Given the description of an element on the screen output the (x, y) to click on. 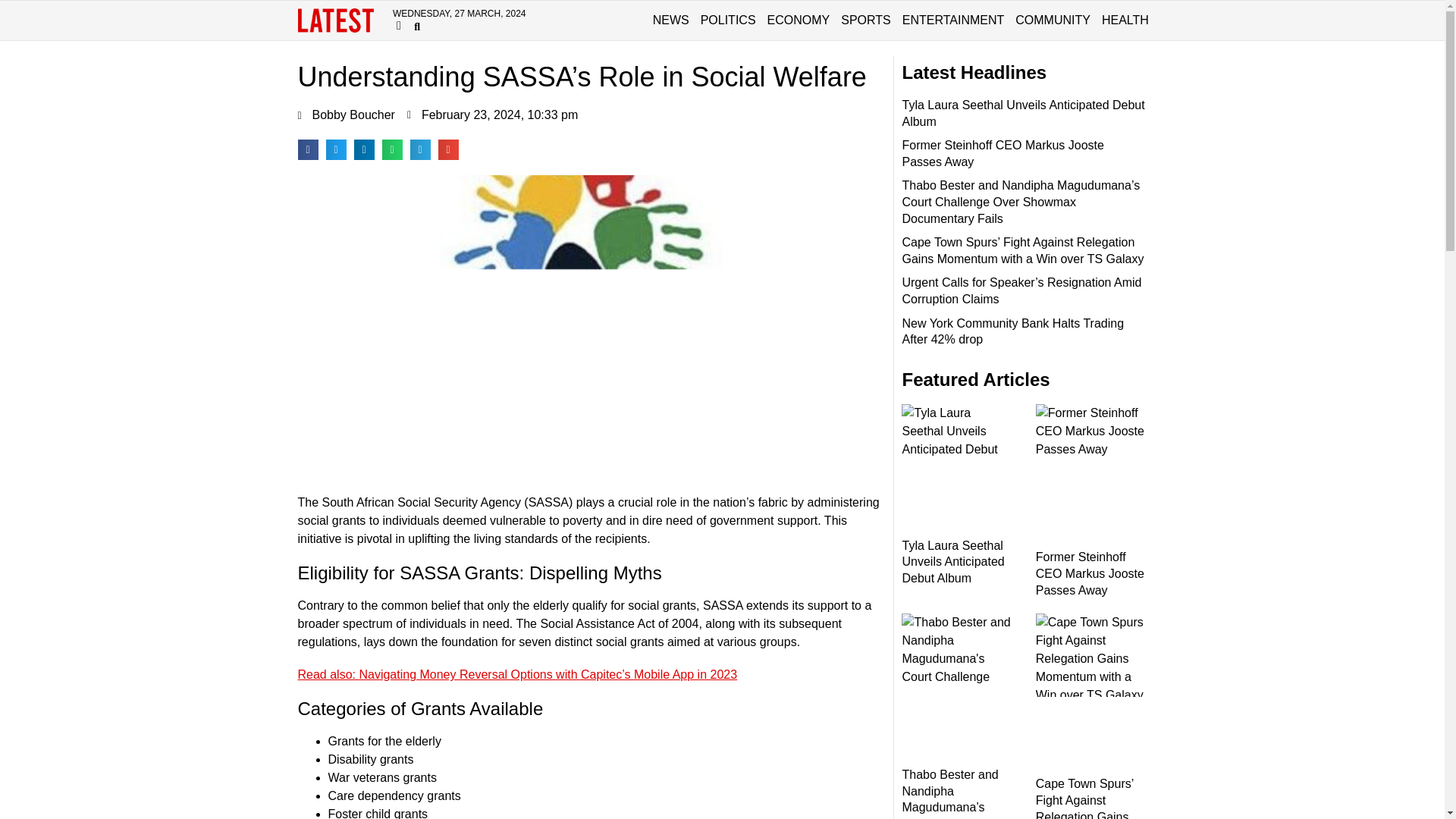
HEALTH (1125, 20)
NEWS (670, 20)
February 23, 2024, 10:33 pm (492, 115)
ENTERTAINMENT (953, 20)
COMMUNITY (1052, 20)
SPORTS (866, 20)
Tyla Laura Seethal Unveils Anticipated Debut Album (1022, 112)
POLITICS (727, 20)
SASSA (548, 502)
Bobby Boucher (345, 115)
